Given the description of an element on the screen output the (x, y) to click on. 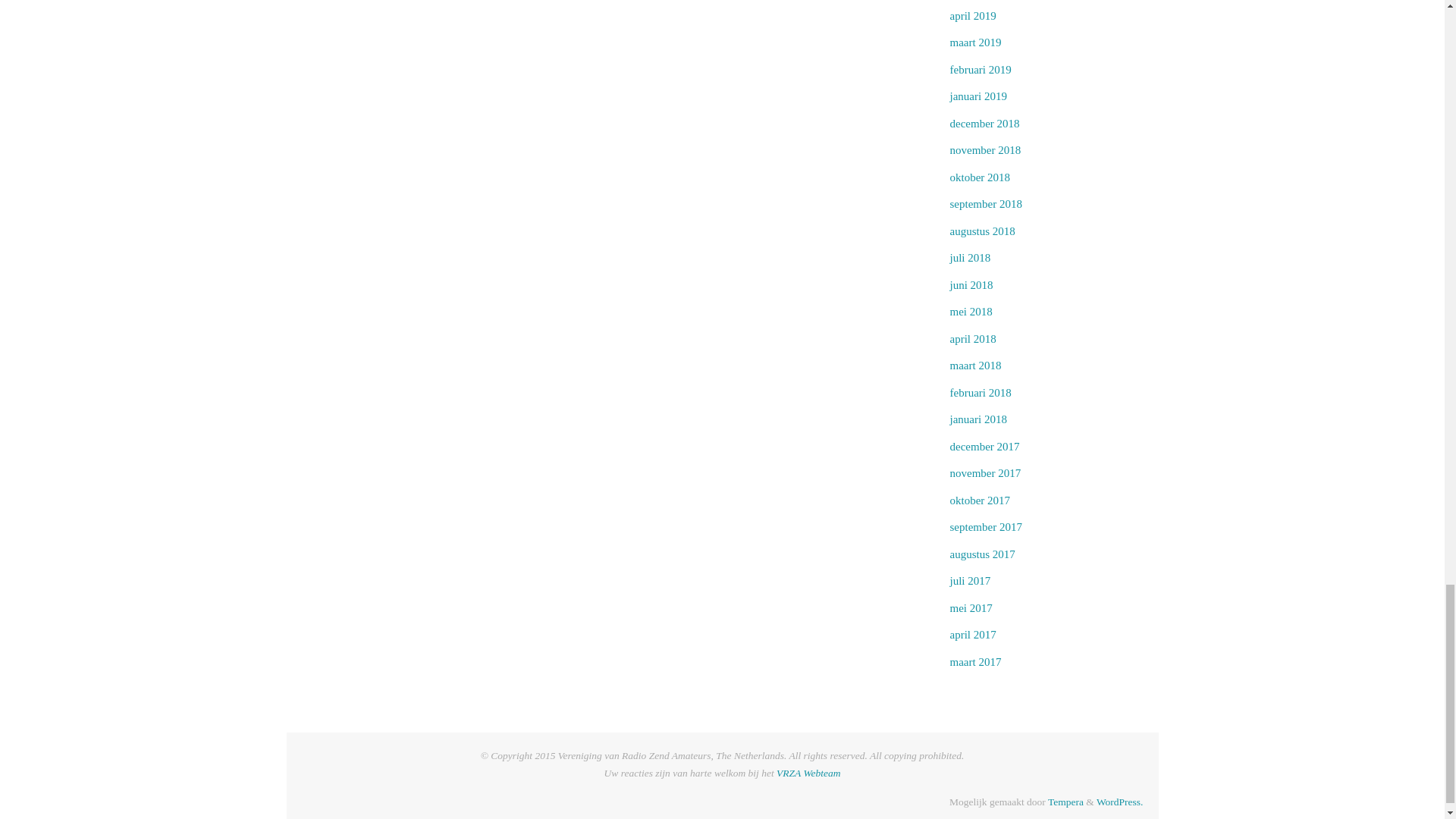
'Semantic Personal Publishing Platform' (1119, 801)
Tempera Theme by Cryout Creations (1065, 801)
